Given the description of an element on the screen output the (x, y) to click on. 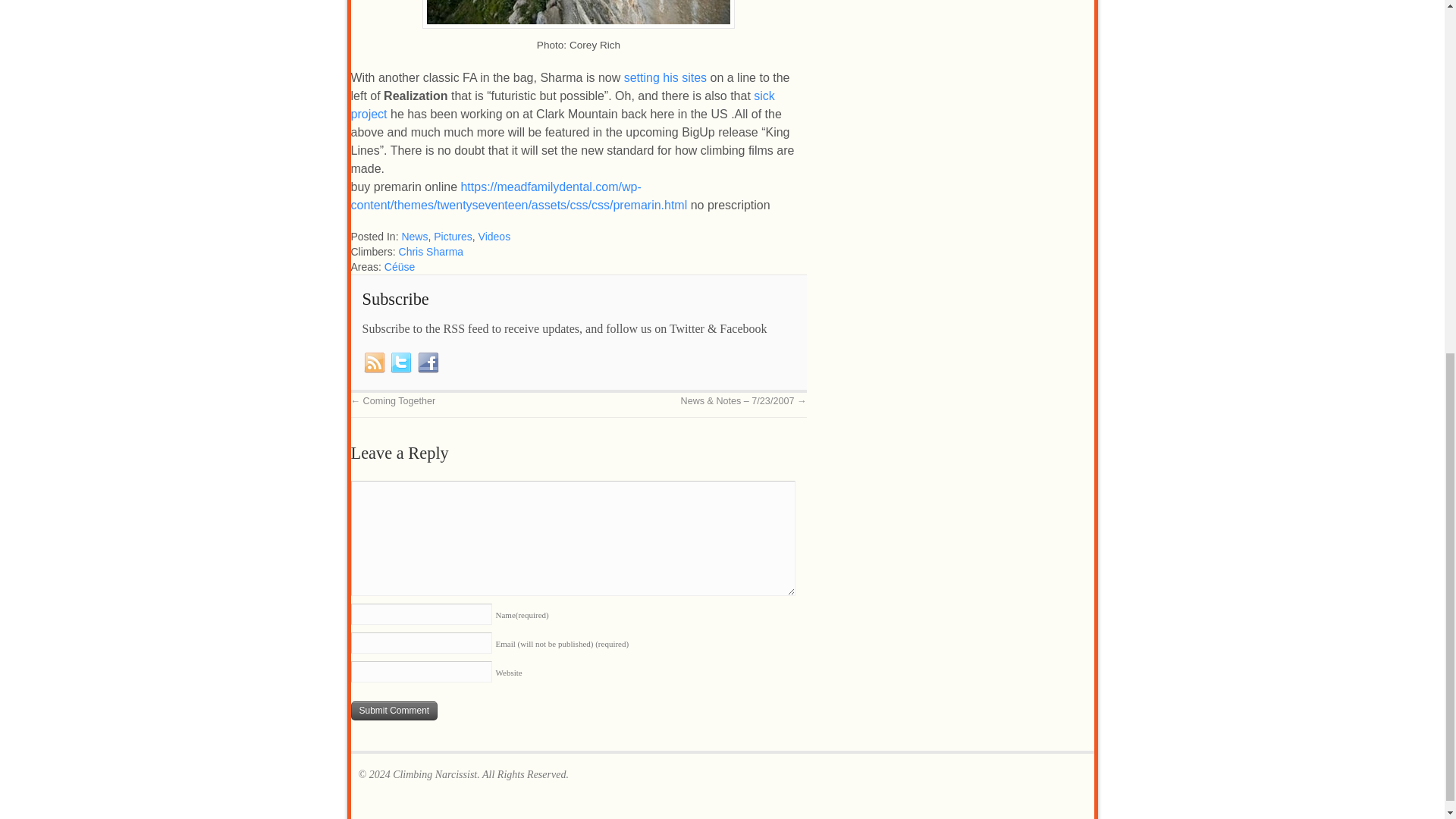
News (414, 236)
Follow us on Twitter (400, 362)
Pictures (452, 236)
Chris Sharma (431, 251)
Submit Comment (394, 710)
setting his sites (665, 77)
sick project (562, 104)
Connect on Facebook (428, 362)
Submit Comment (394, 710)
Videos (495, 236)
Subscribe to our RSS feed (374, 362)
